Given the description of an element on the screen output the (x, y) to click on. 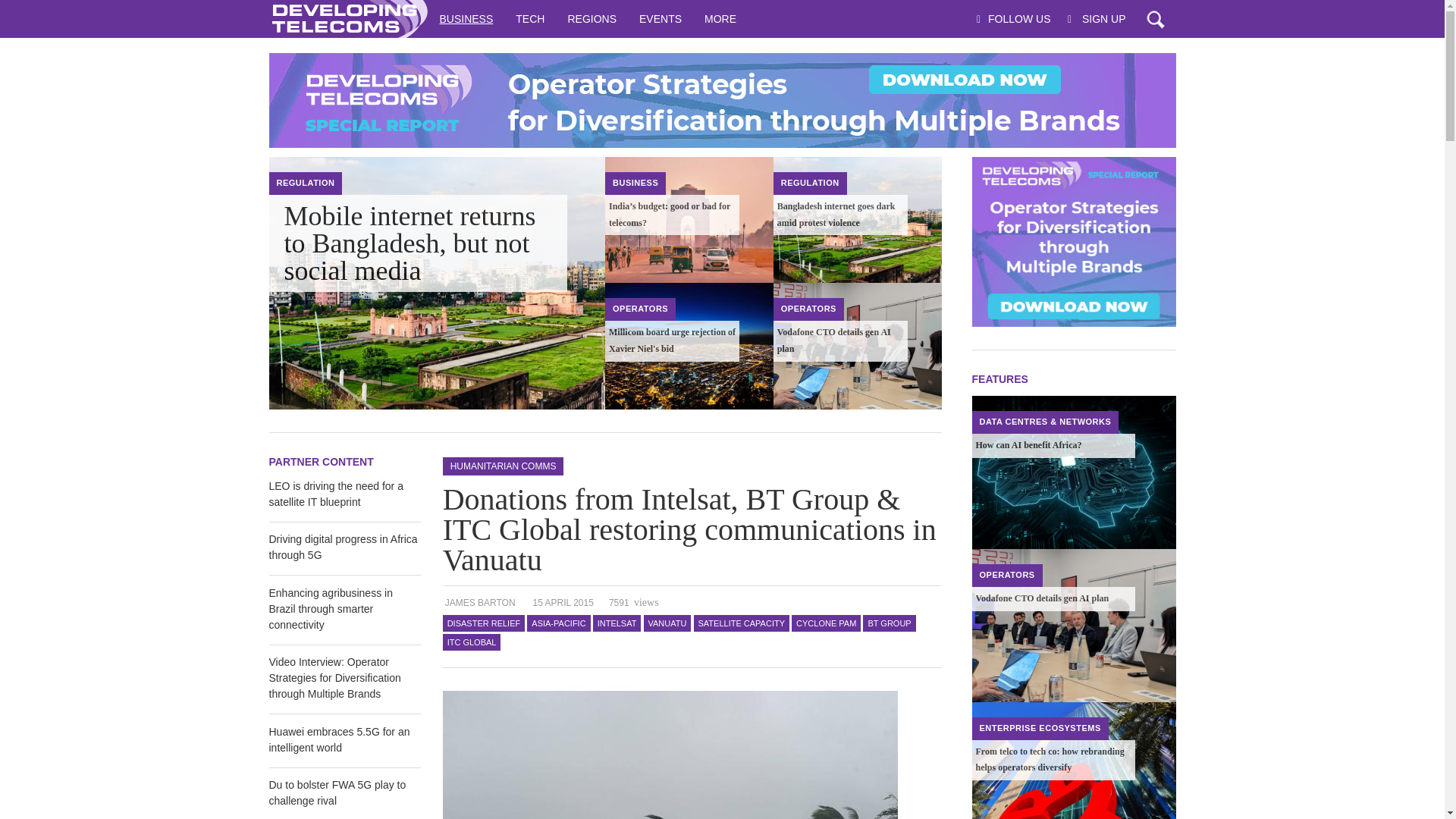
BUSINESS (465, 18)
Regulation (810, 182)
Click to follow link (720, 100)
Developing Telecoms (347, 18)
Regulation (305, 182)
Business (635, 182)
REGIONS (591, 18)
TECH (529, 18)
